Given the description of an element on the screen output the (x, y) to click on. 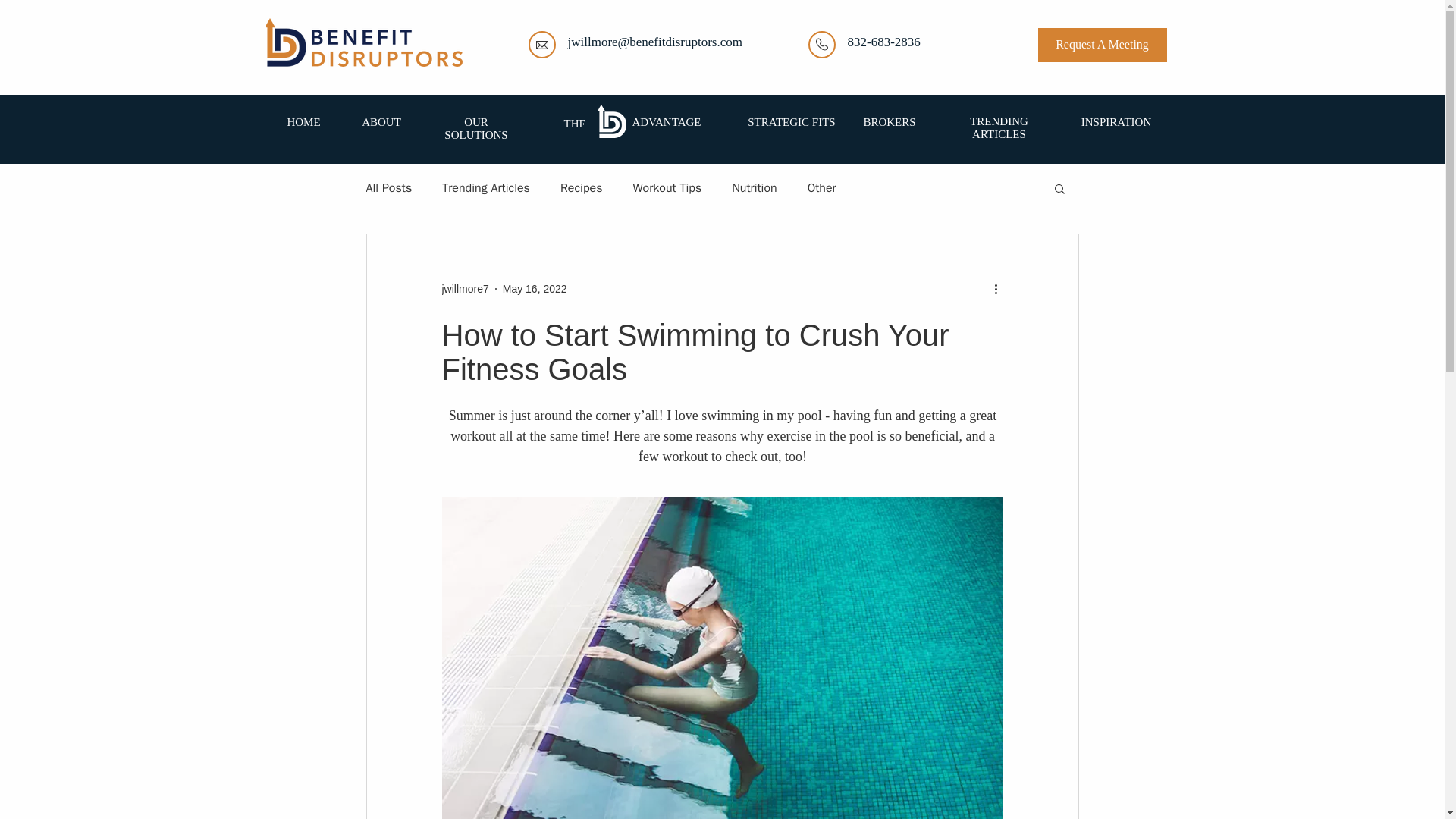
All Posts (388, 188)
STRATEGIC FITS (791, 121)
BROKERS (889, 121)
Trending Articles (485, 188)
Request A Meeting (1101, 44)
Workout Tips (666, 188)
May 16, 2022 (534, 287)
Recipes (581, 188)
ABOUT (381, 121)
jwillmore7 (464, 288)
